Given the description of an element on the screen output the (x, y) to click on. 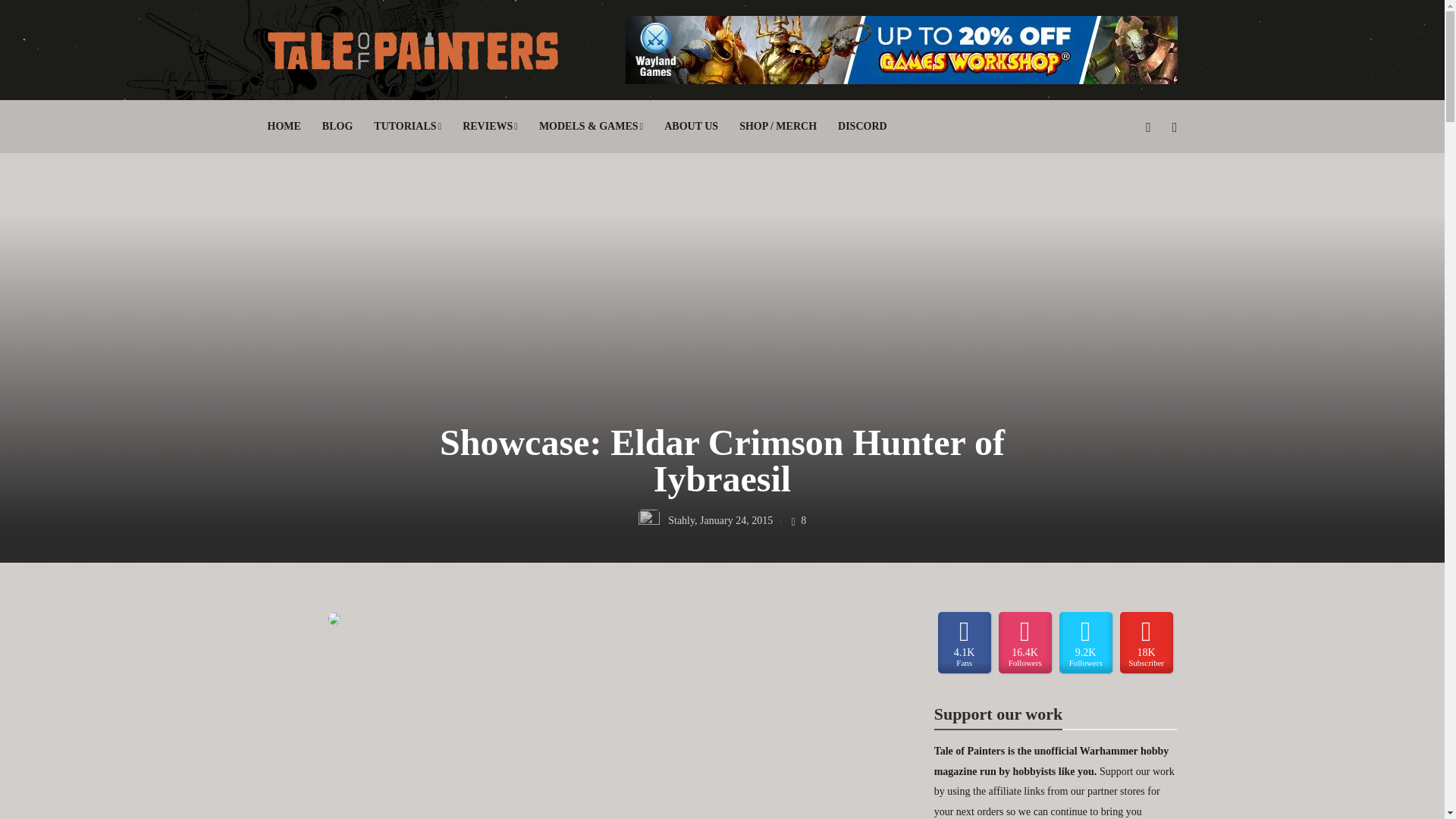
HOME (282, 126)
BLOG (336, 126)
TUTORIALS (407, 126)
REVIEWS (490, 126)
